Given the description of an element on the screen output the (x, y) to click on. 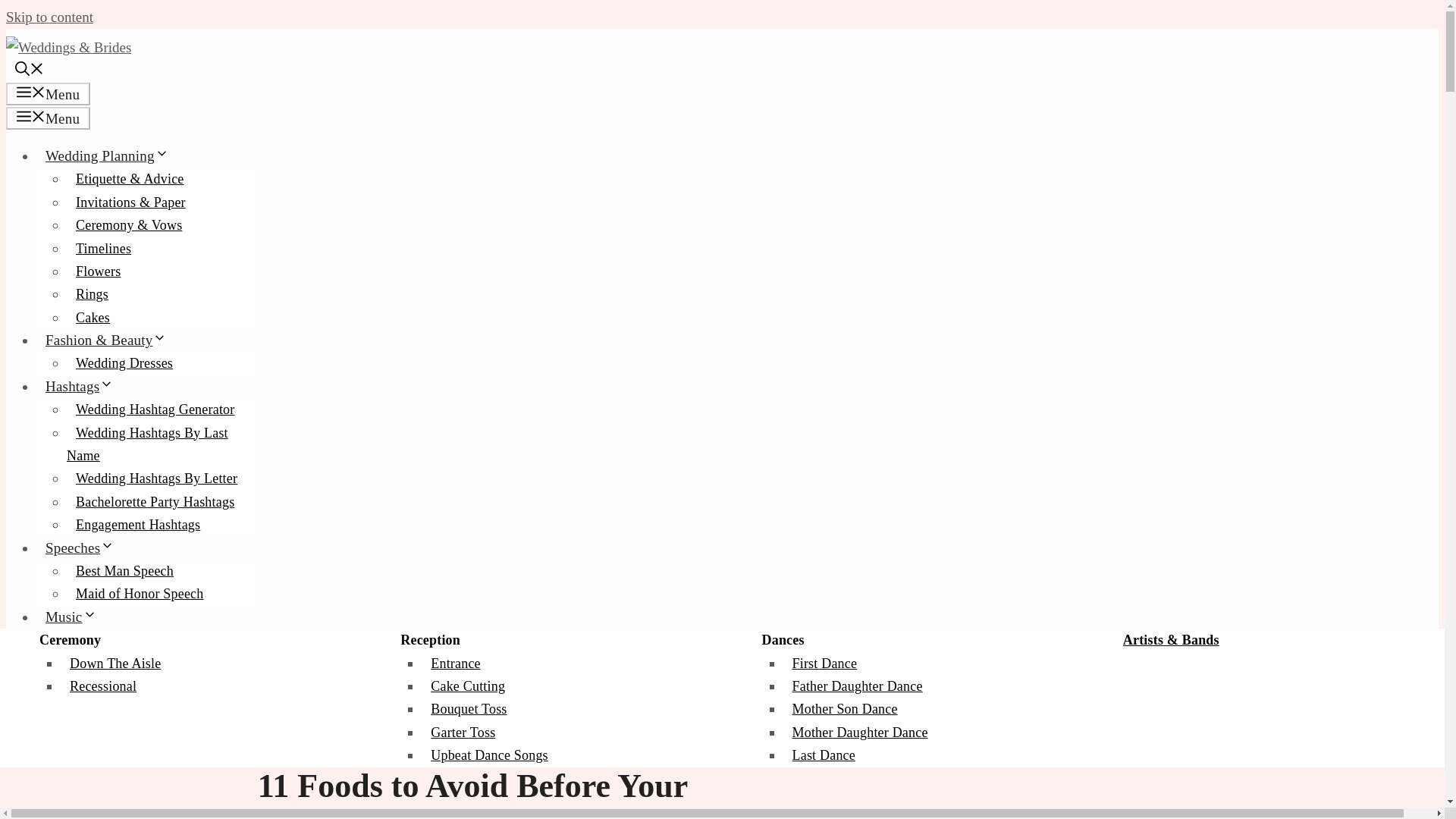
Flowers (97, 271)
First Dance (824, 663)
Music (75, 616)
Father Daughter Dance (857, 686)
Timelines (102, 248)
Best Man Speech (124, 570)
Mother Son Dance (844, 709)
Speeches (84, 547)
Wedding Planning (111, 155)
Bouquet Toss (468, 709)
Reception (429, 639)
Wedding Hashtags By Letter (156, 478)
Mother Daughter Dance (859, 732)
Rings (91, 294)
Menu (47, 118)
